Given the description of an element on the screen output the (x, y) to click on. 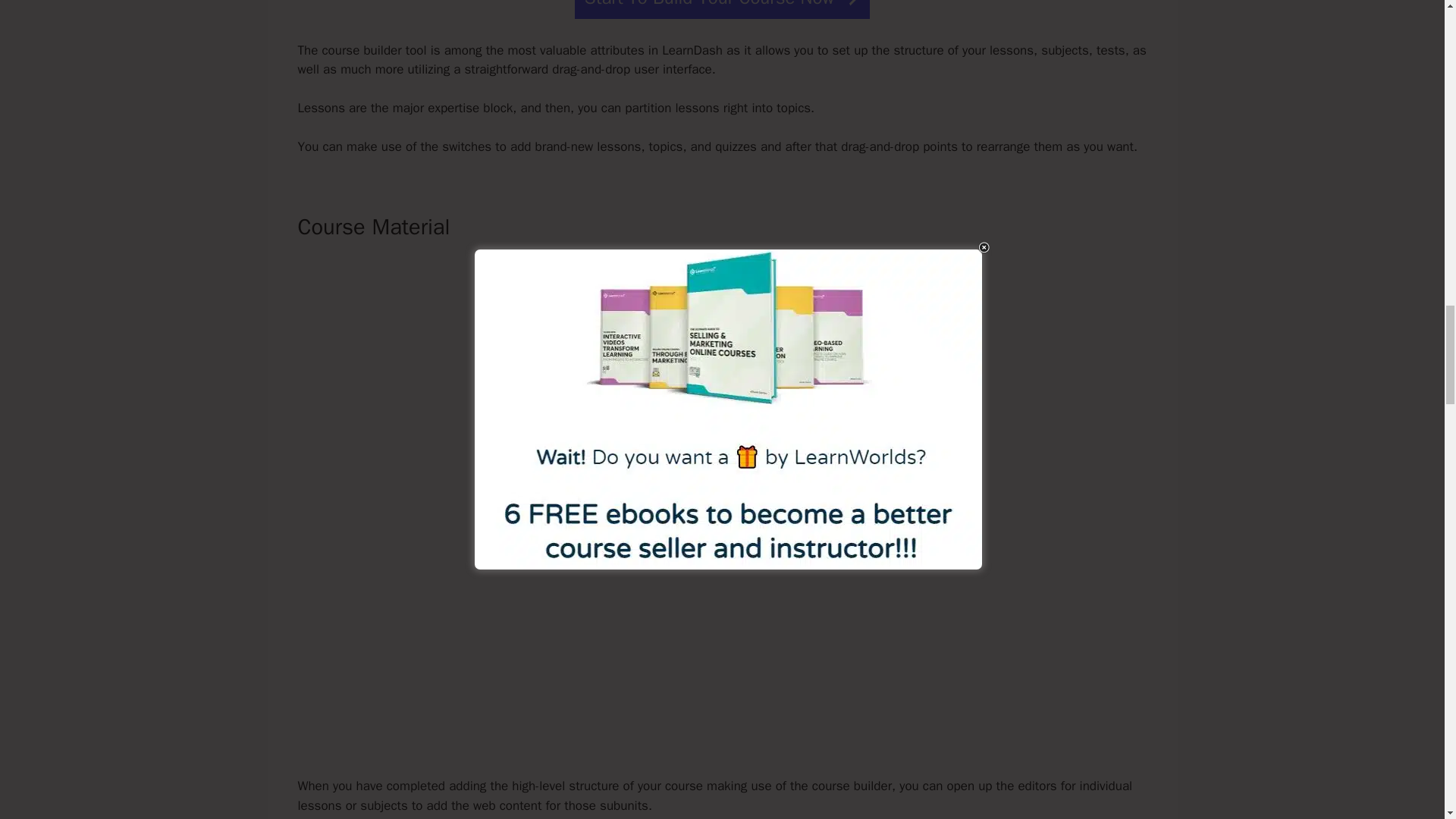
Start To Build Your Course Now (722, 9)
